Given the description of an element on the screen output the (x, y) to click on. 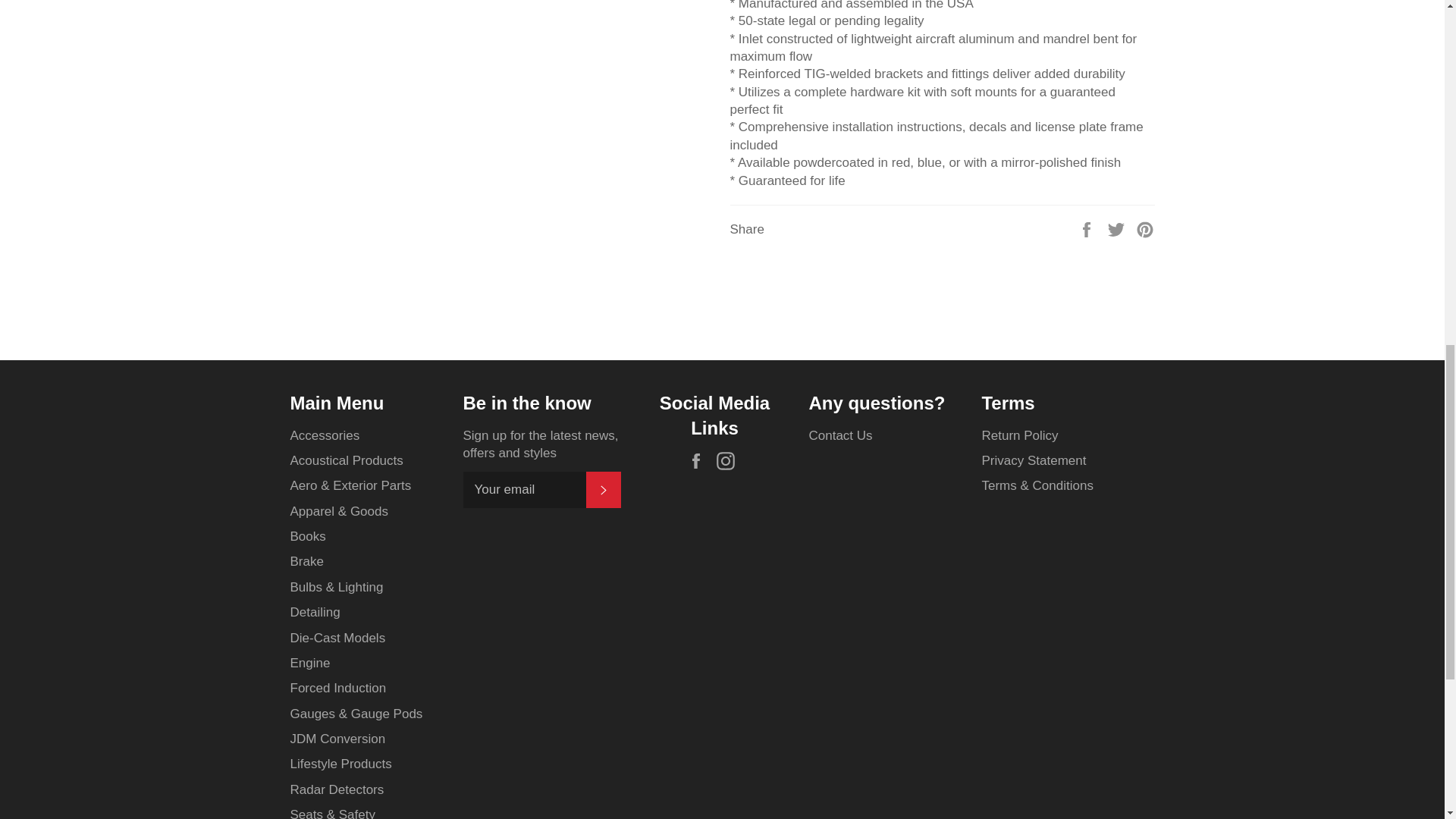
Share on Facebook (1088, 228)
BMI Performance on Instagram (729, 461)
Pin on Pinterest (1144, 228)
About Us (840, 435)
Return Policy (1019, 435)
BMI Performance on Facebook (700, 461)
Privacy Statement (1033, 460)
Tweet on Twitter (1117, 228)
